Given the description of an element on the screen output the (x, y) to click on. 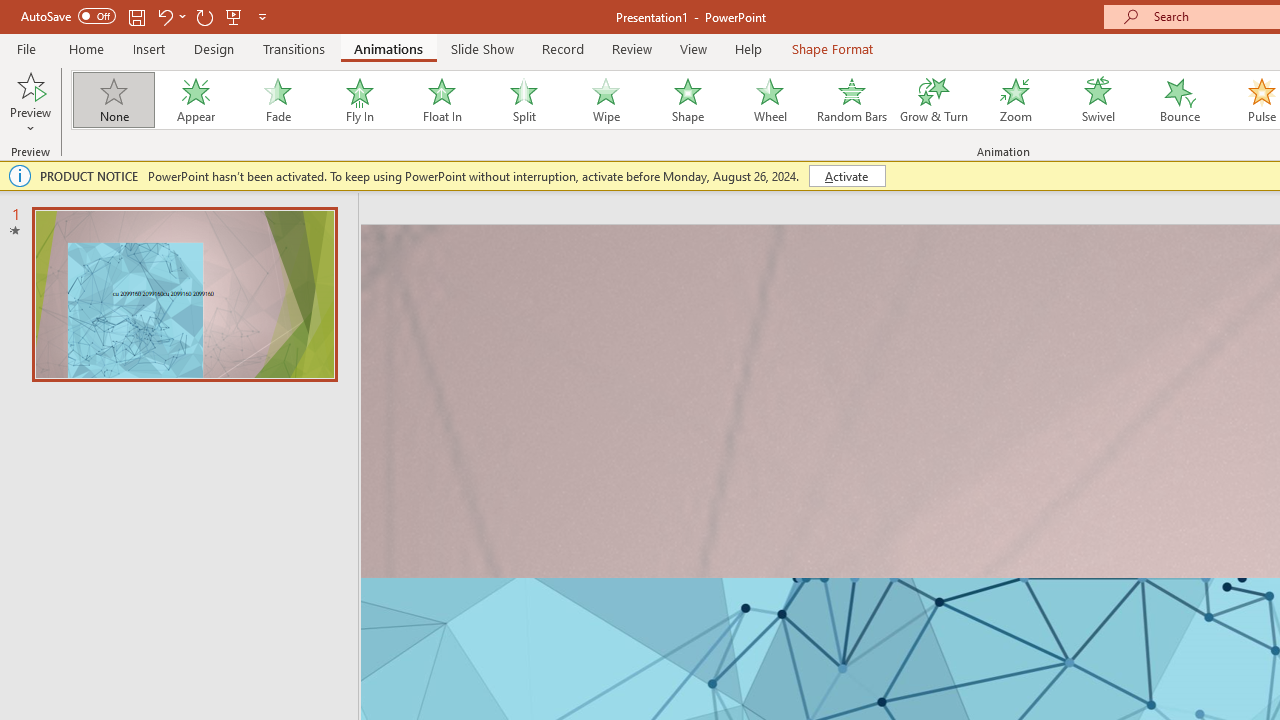
Wipe (605, 100)
None (113, 100)
Split (523, 100)
Fade (277, 100)
Grow & Turn (934, 100)
Appear (195, 100)
Bounce (1180, 100)
